Given the description of an element on the screen output the (x, y) to click on. 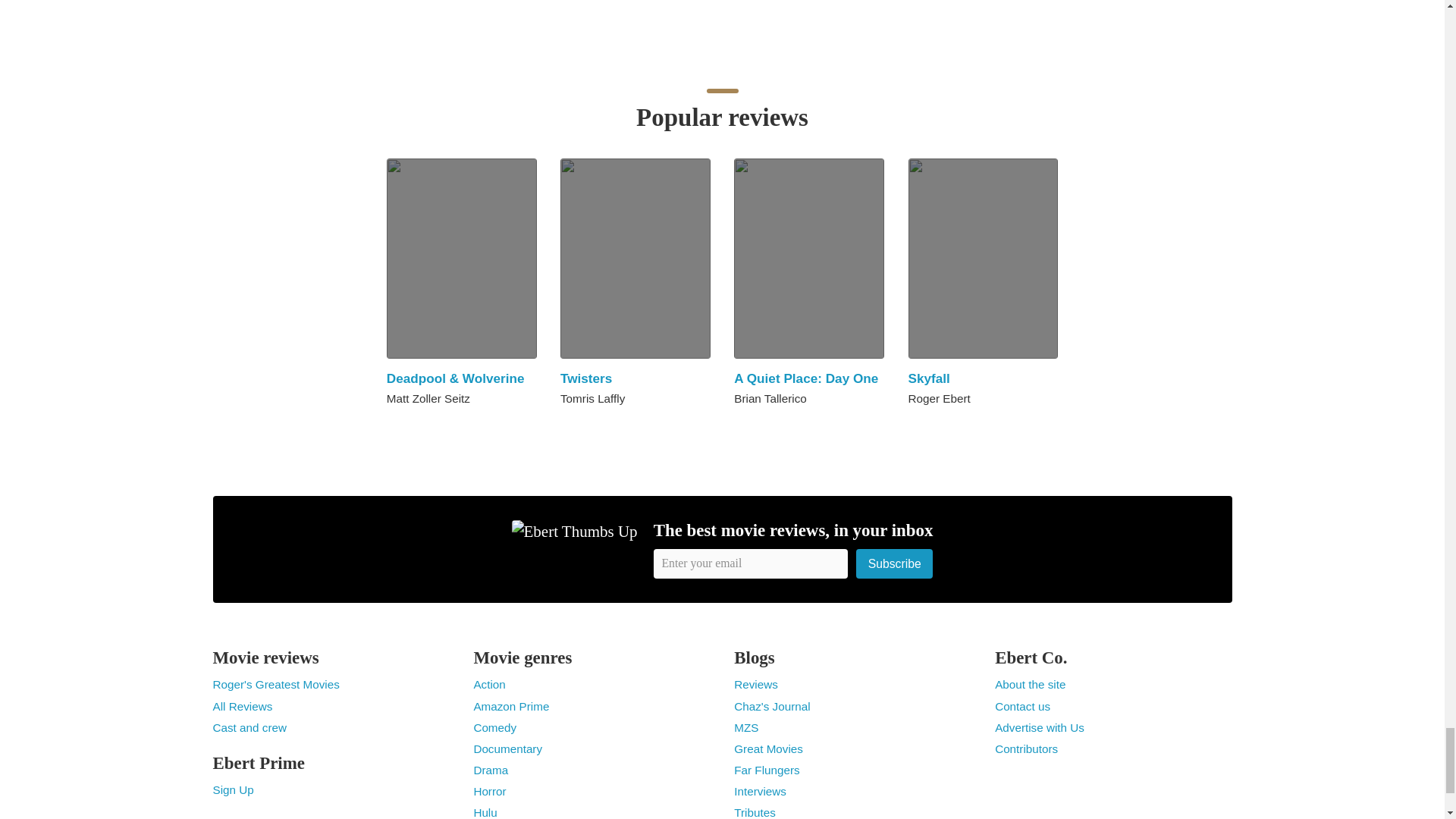
Subscribe (894, 563)
